Given the description of an element on the screen output the (x, y) to click on. 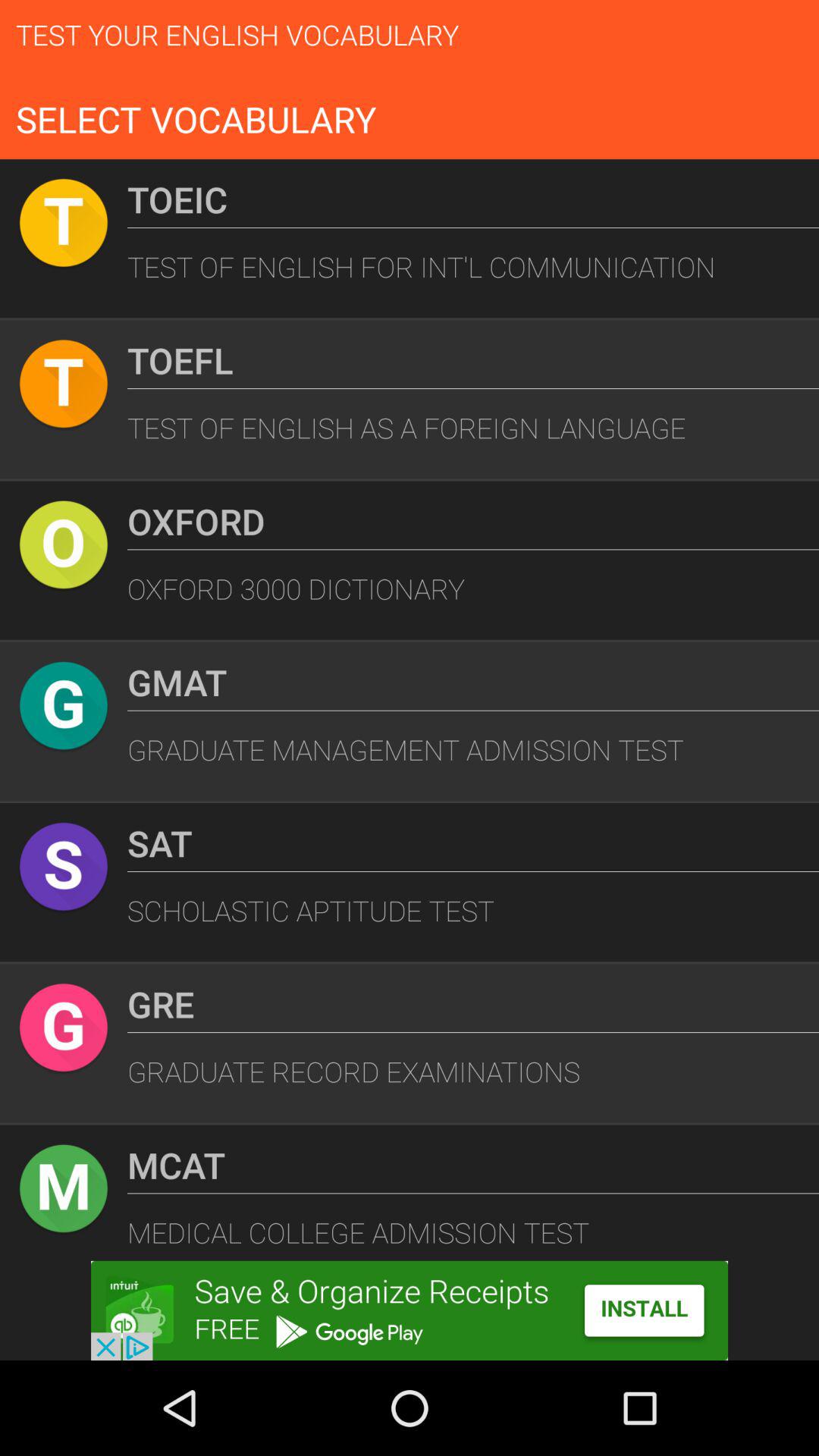
install (409, 1310)
